Given the description of an element on the screen output the (x, y) to click on. 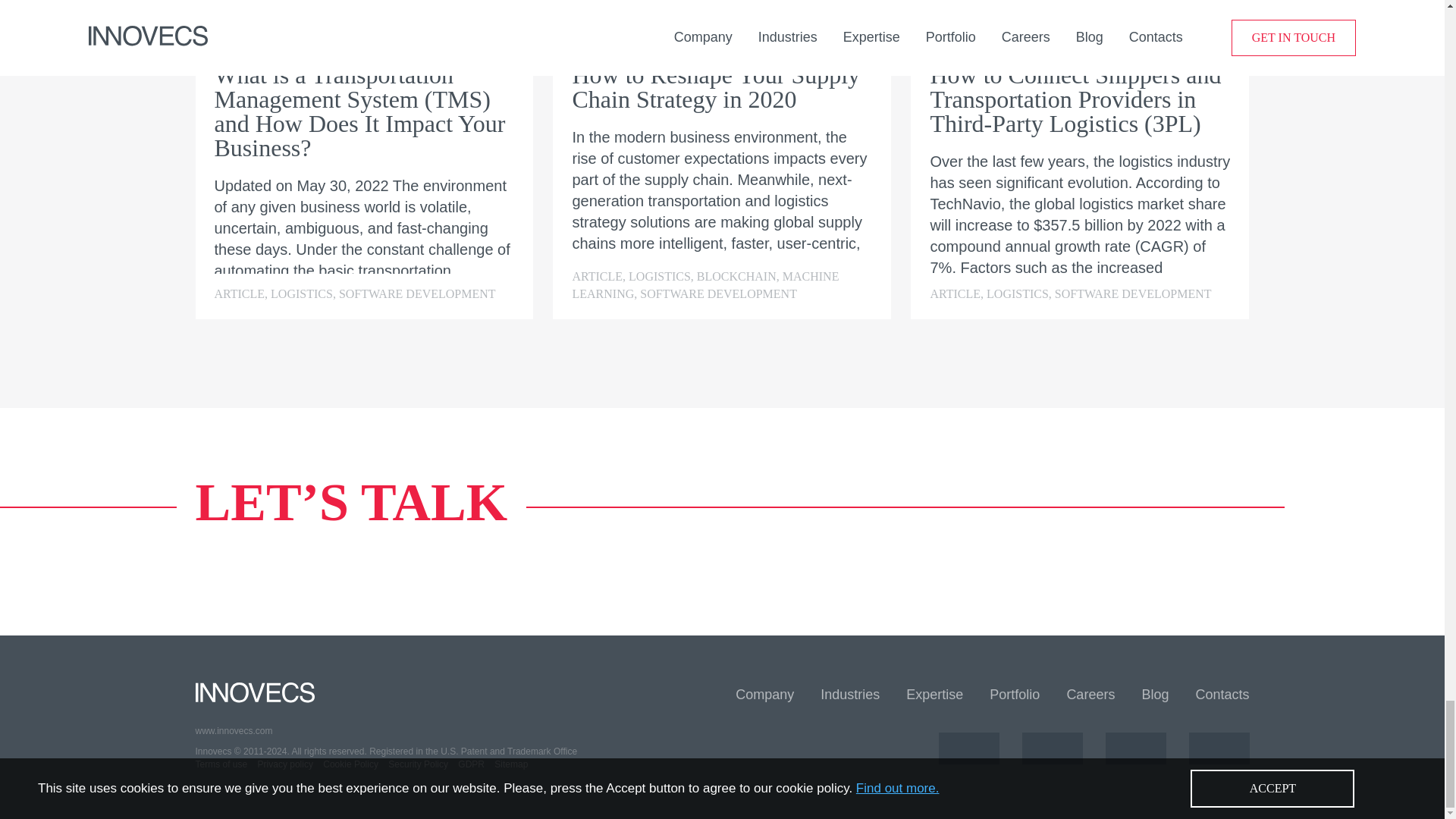
www.innovecs.com (458, 730)
